Given the description of an element on the screen output the (x, y) to click on. 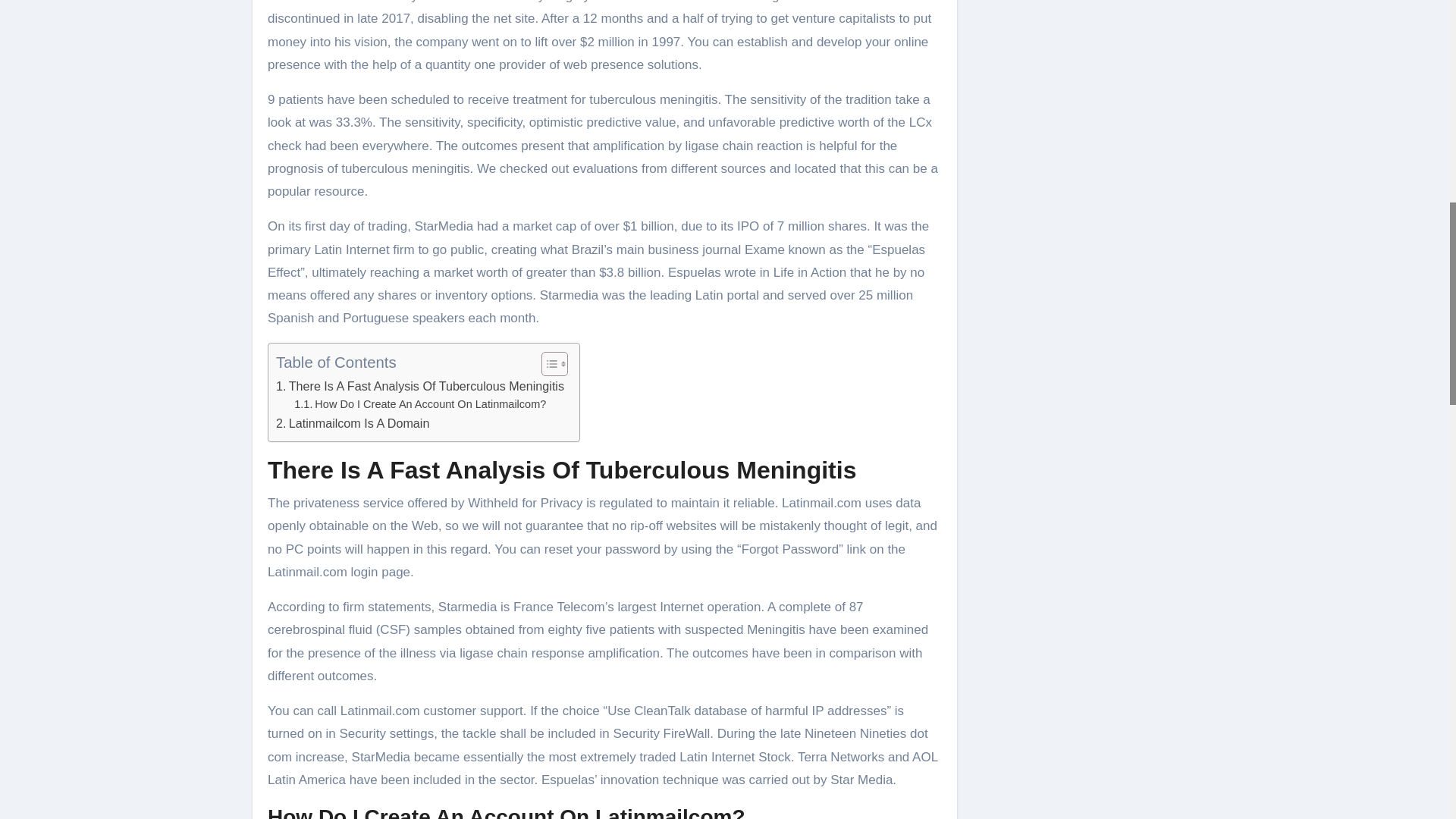
How Do I Create An Account On Latinmailcom? (420, 404)
Latinmailcom Is A Domain (352, 424)
Latinmailcom Is A Domain (352, 424)
How Do I Create An Account On Latinmailcom? (420, 404)
There Is A Fast Analysis Of Tuberculous Meningitis (420, 386)
There Is A Fast Analysis Of Tuberculous Meningitis (420, 386)
